Given the description of an element on the screen output the (x, y) to click on. 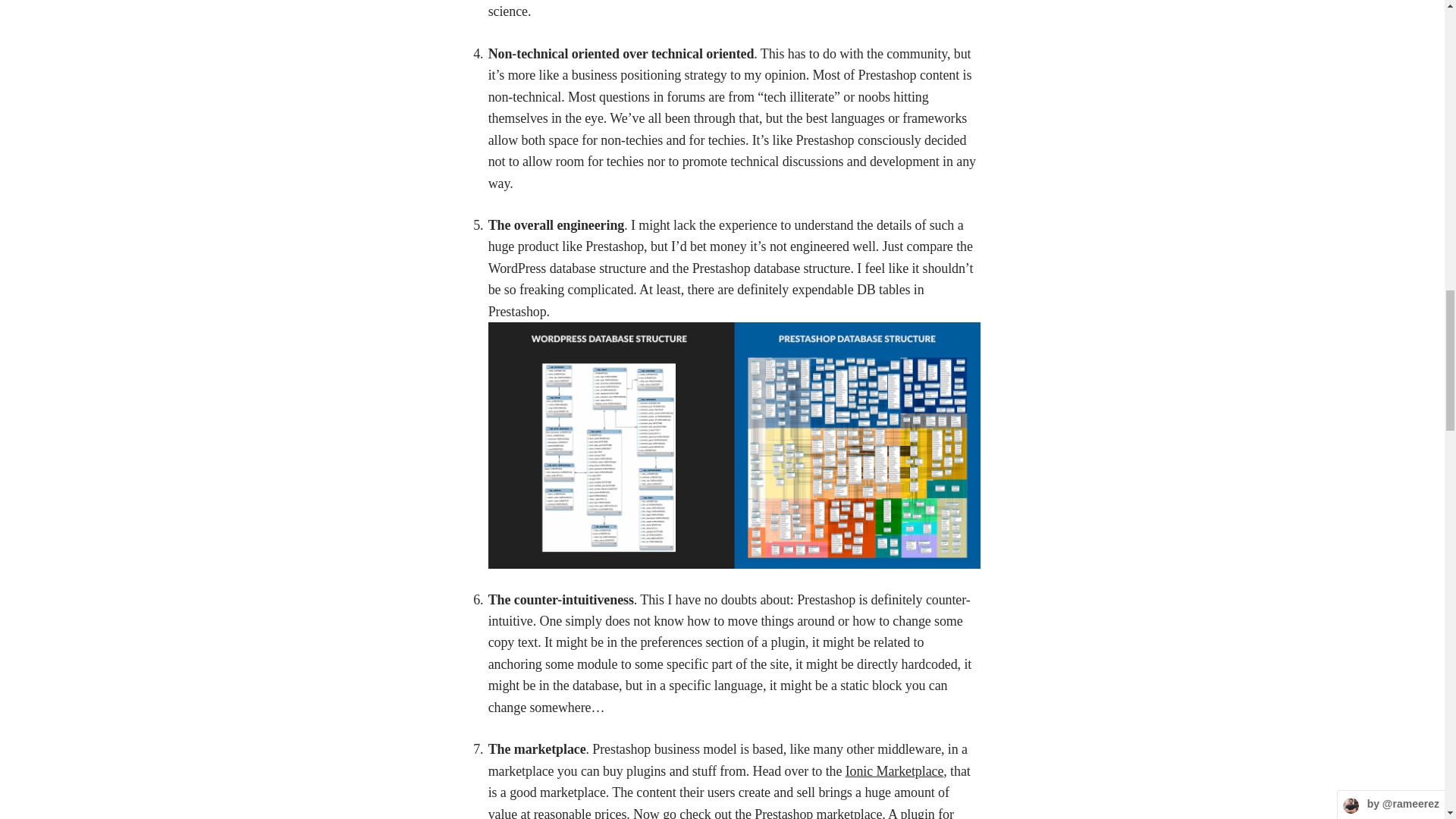
Ionic Marketplace (894, 771)
